Given the description of an element on the screen output the (x, y) to click on. 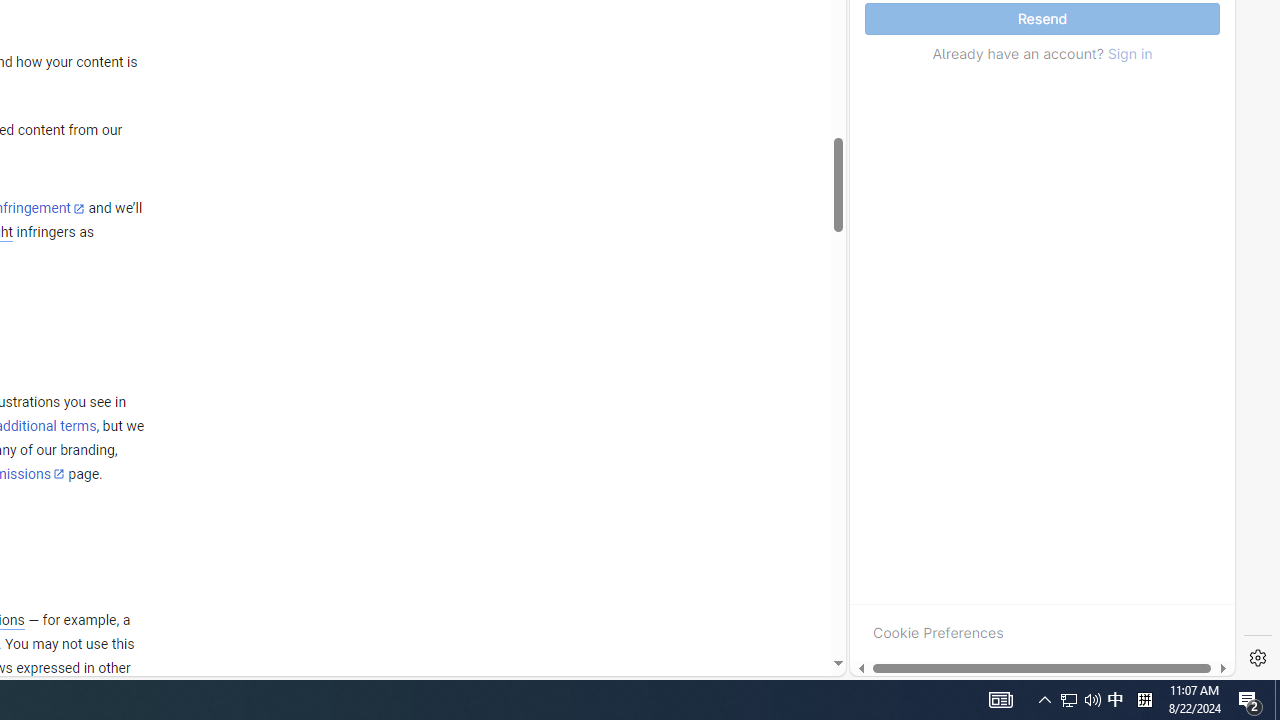
GitLab (966, 678)
View details (1145, 255)
Cookie Preferences (938, 632)
View details (1145, 256)
Resend (1042, 19)
